Given the description of an element on the screen output the (x, y) to click on. 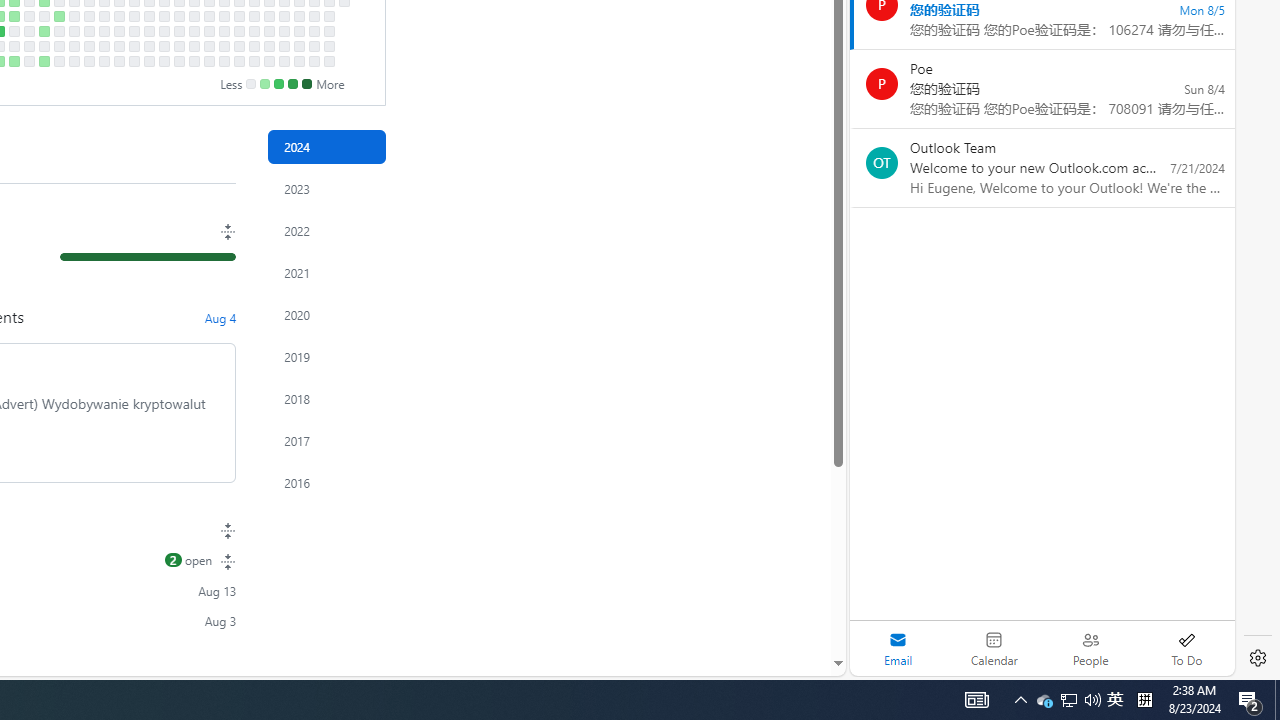
No contributions on September 7th. (88, 61)
2023 (326, 188)
No contributions on August 16th. (43, 46)
No contributions on December 19th. (314, 30)
No contributions on December 27th. (328, 46)
No contributions on November 13th. (238, 16)
No contributions on August 10th. (28, 61)
No contributions on August 24th. (58, 61)
No contributions on October 31st. (209, 30)
No contributions on October 11th. (163, 46)
No contributions on October 24th. (193, 30)
No contributions on December 4th. (283, 16)
No contributions on August 8th. (28, 30)
No contributions on October 5th. (148, 61)
